Given the description of an element on the screen output the (x, y) to click on. 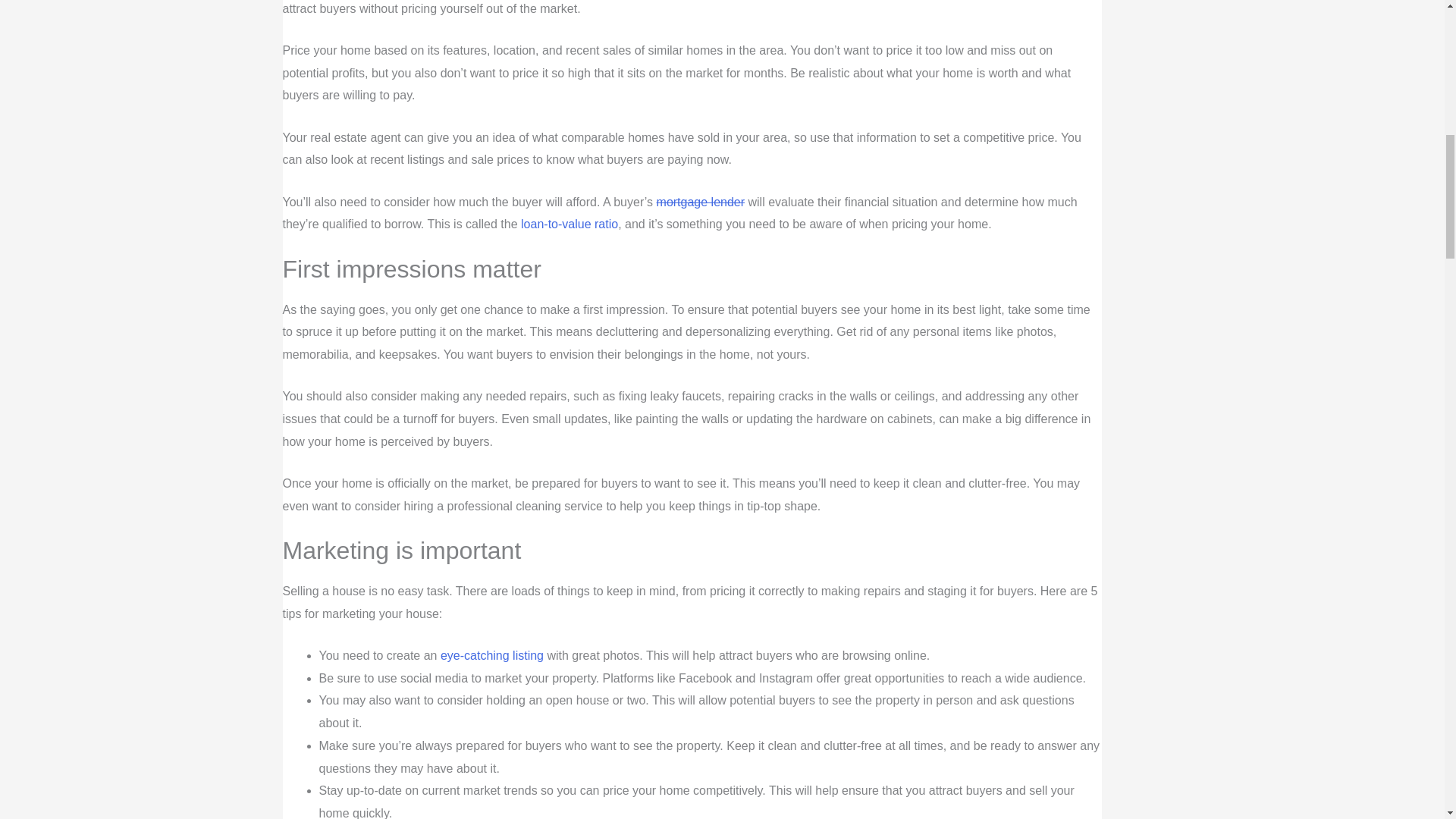
eye-catching listing (492, 655)
loan-to-value ratio (569, 223)
mortgage lender (700, 201)
